Given the description of an element on the screen output the (x, y) to click on. 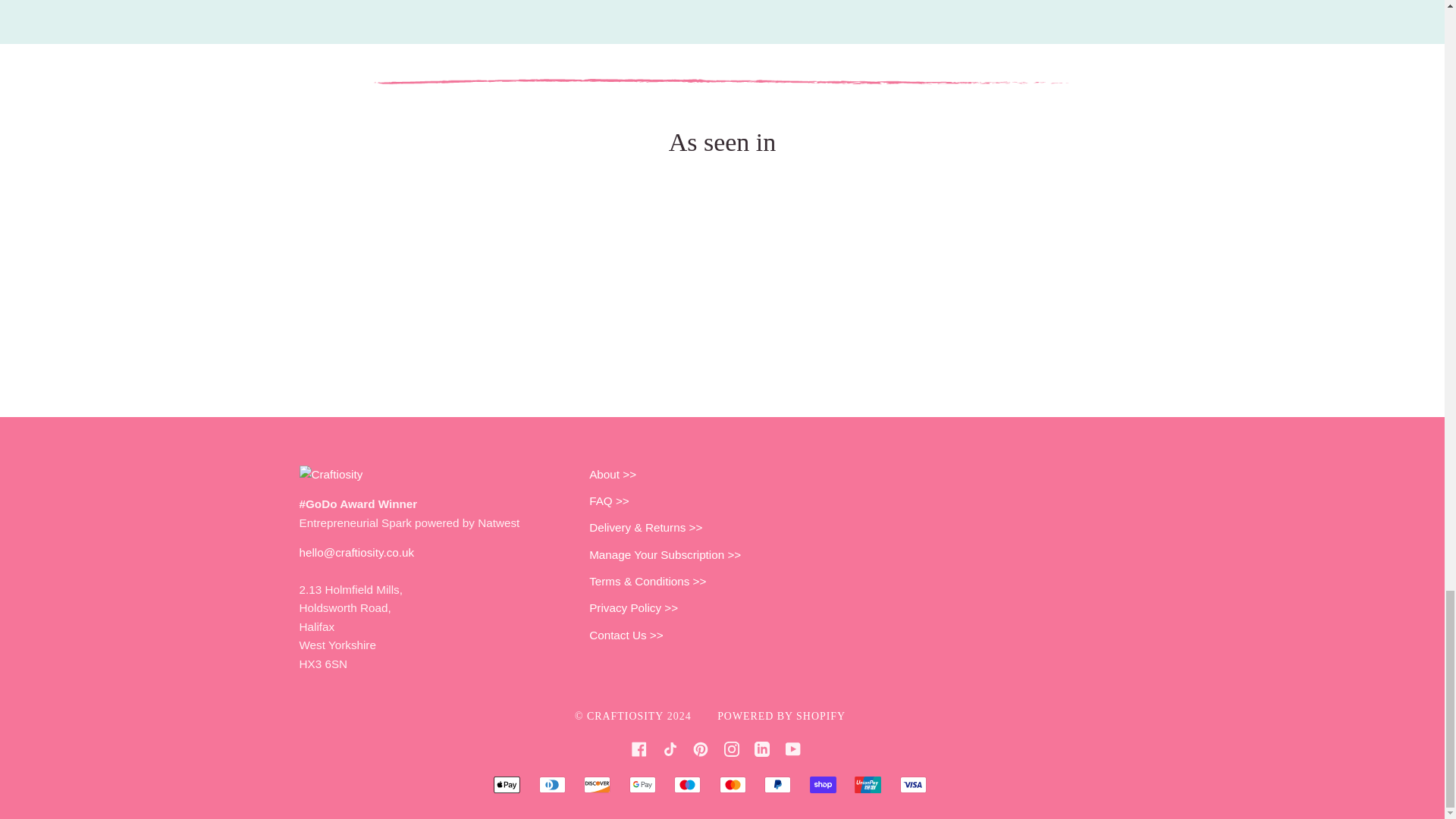
VISA (912, 784)
MAESTRO (687, 784)
Tiktok (670, 747)
YouTube (793, 747)
DINERS CLUB (552, 784)
SHOP PAY (822, 784)
GOOGLE PAY (642, 784)
Linkedin (762, 747)
APPLE PAY (506, 784)
Contact (355, 571)
